Given the description of an element on the screen output the (x, y) to click on. 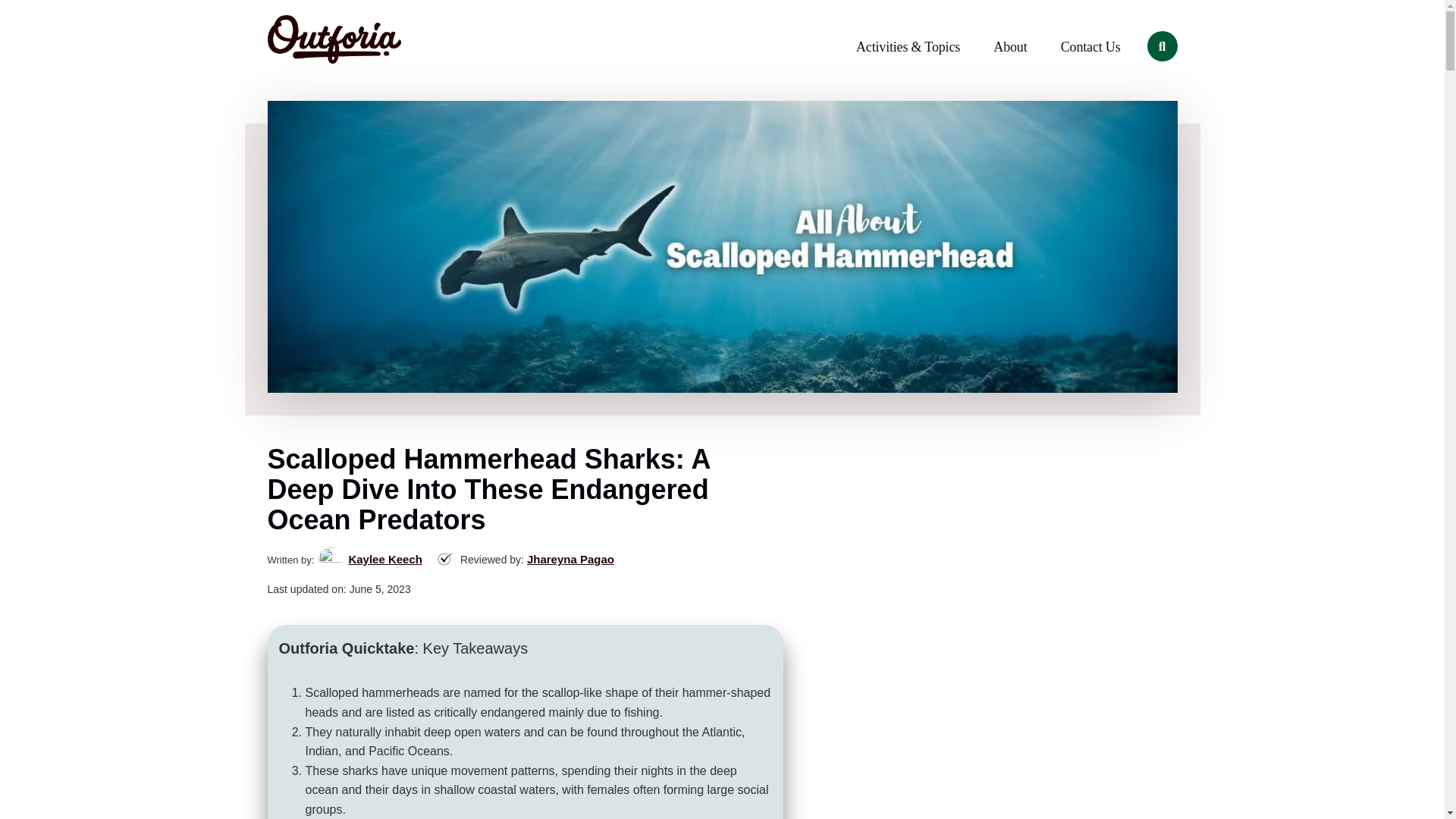
About (1010, 47)
Kaylee Keech (384, 558)
Jhareyna Pagao (570, 558)
Contact Us (1090, 47)
